Given the description of an element on the screen output the (x, y) to click on. 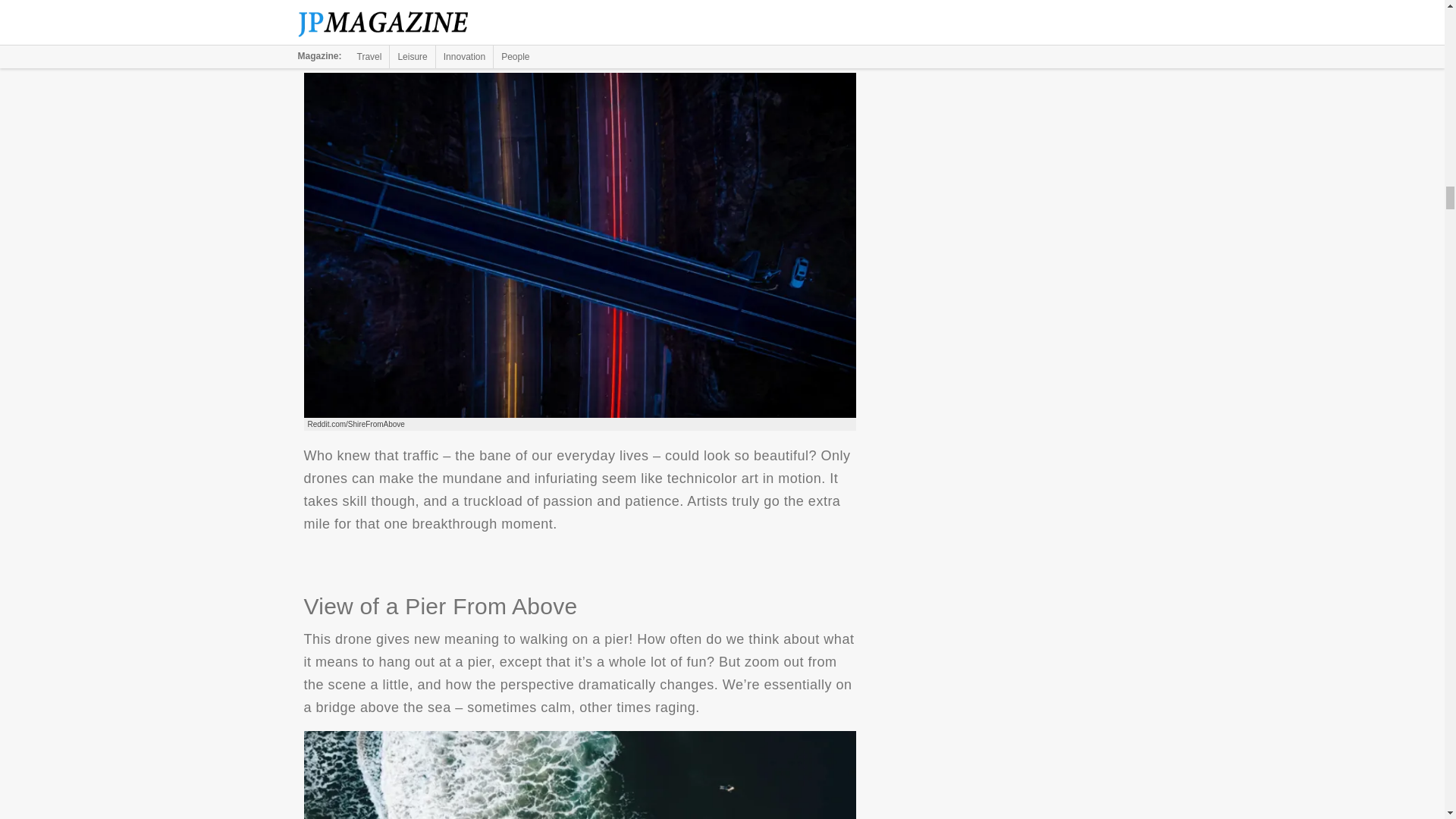
View of a Pier From Above (579, 775)
